Given the description of an element on the screen output the (x, y) to click on. 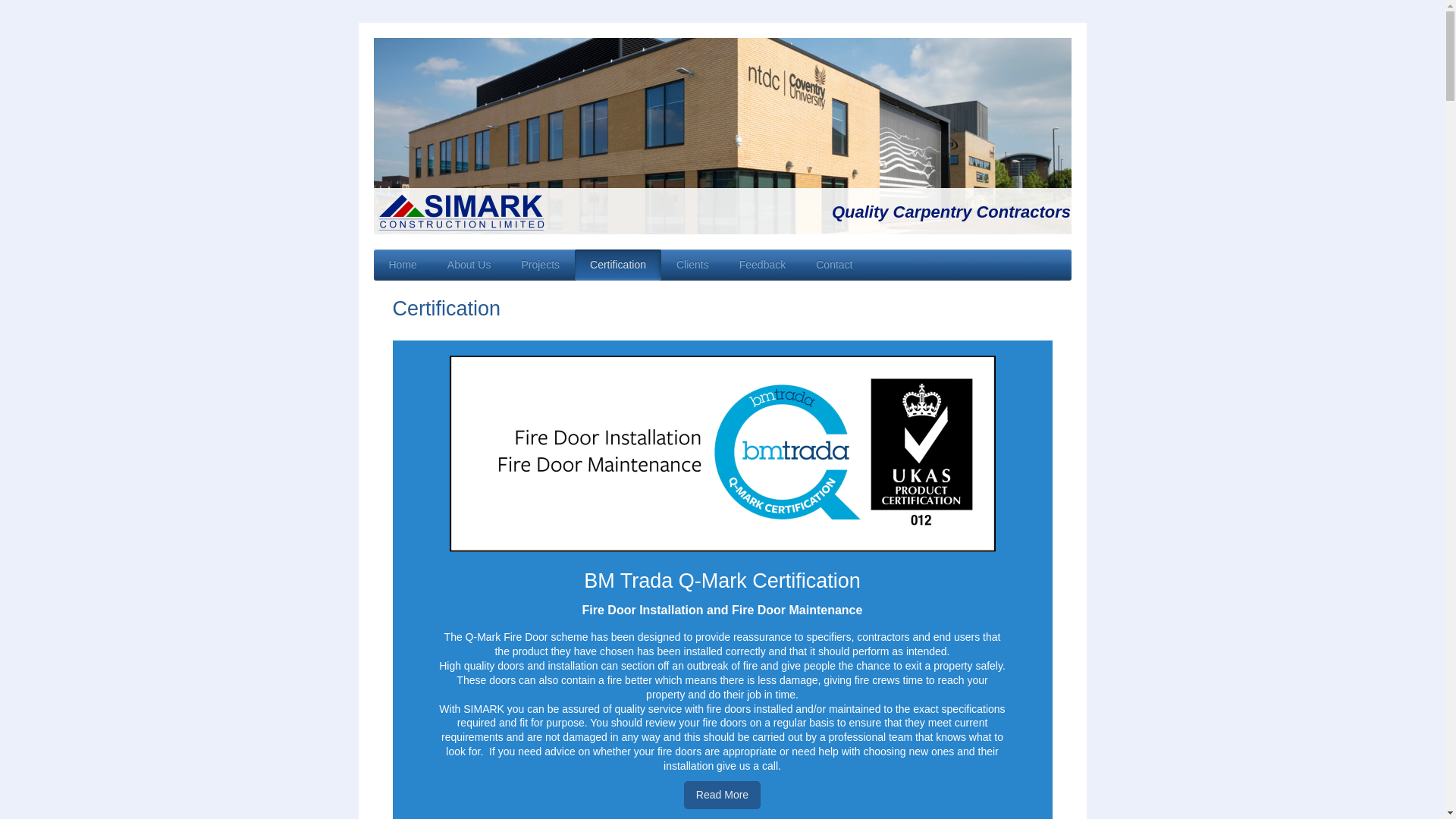
About Us (469, 264)
Home (401, 264)
Certification (618, 264)
Feedback (761, 264)
Projects (540, 264)
Quality Carpentry Contractors (950, 211)
Clients (692, 264)
Contact (833, 264)
Read More (722, 795)
